Given the description of an element on the screen output the (x, y) to click on. 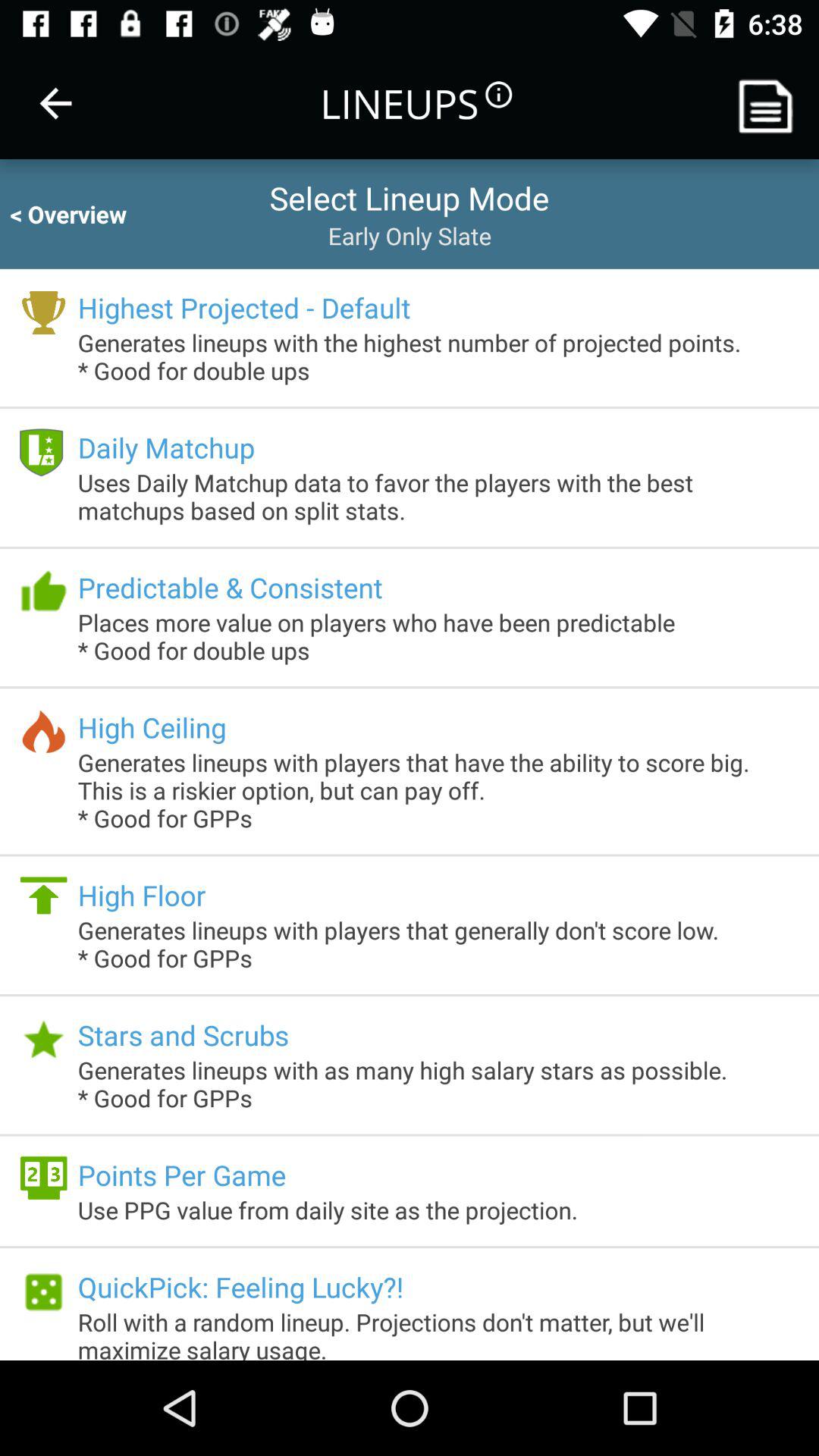
bookmark (771, 103)
